Given the description of an element on the screen output the (x, y) to click on. 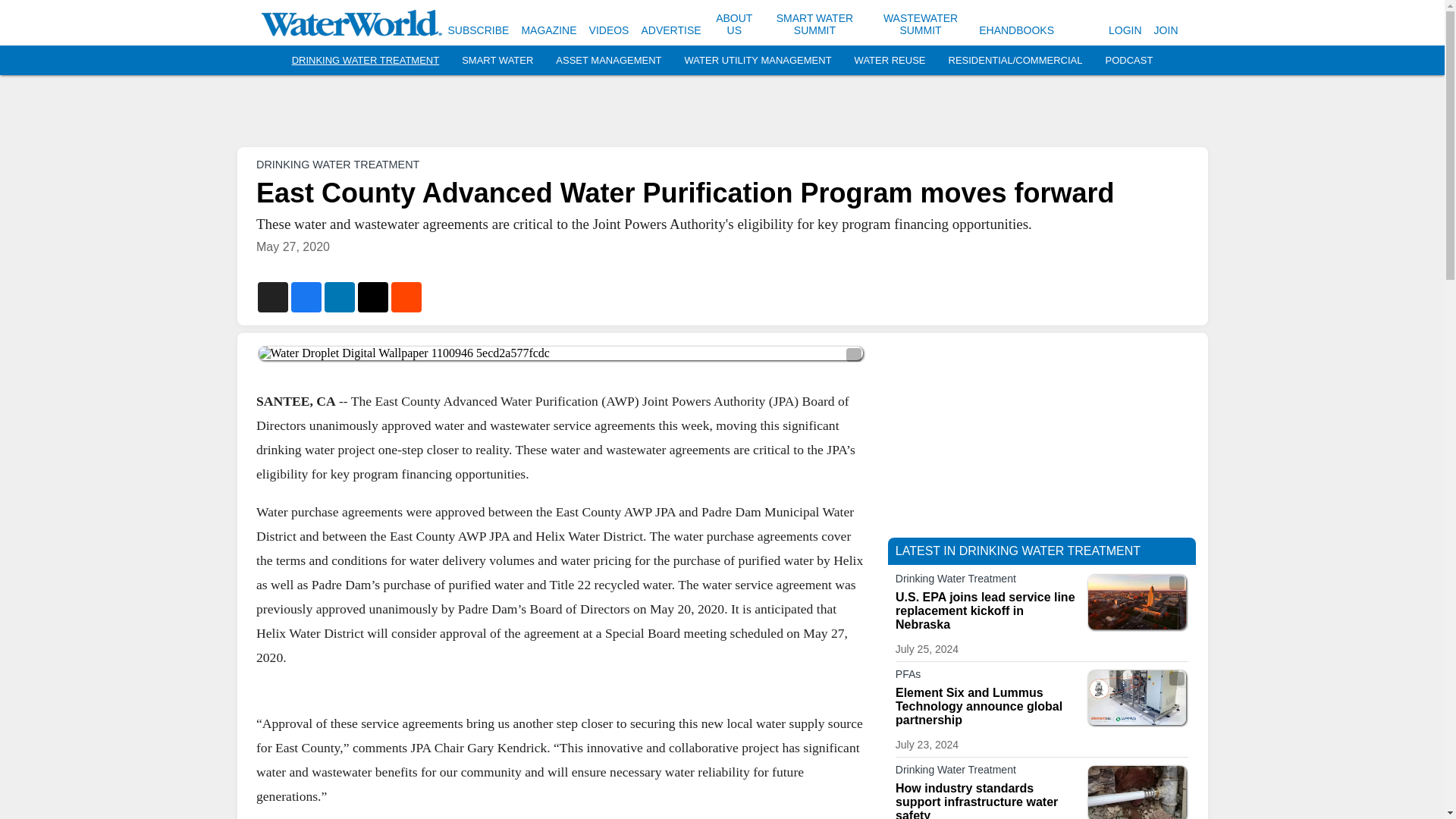
ASSET MANAGEMENT (608, 60)
WATER UTILITY MANAGEMENT (757, 60)
DRINKING WATER TREATMENT (365, 60)
Water Droplet Digital Wallpaper 1100946 5ecd2a577fcdc (559, 353)
SUBSCRIBE (477, 30)
EHANDBOOKS (1016, 30)
WASTEWATER SUMMIT (920, 24)
JOIN (1165, 30)
SMART WATER (496, 60)
WATER REUSE (890, 60)
